Given the description of an element on the screen output the (x, y) to click on. 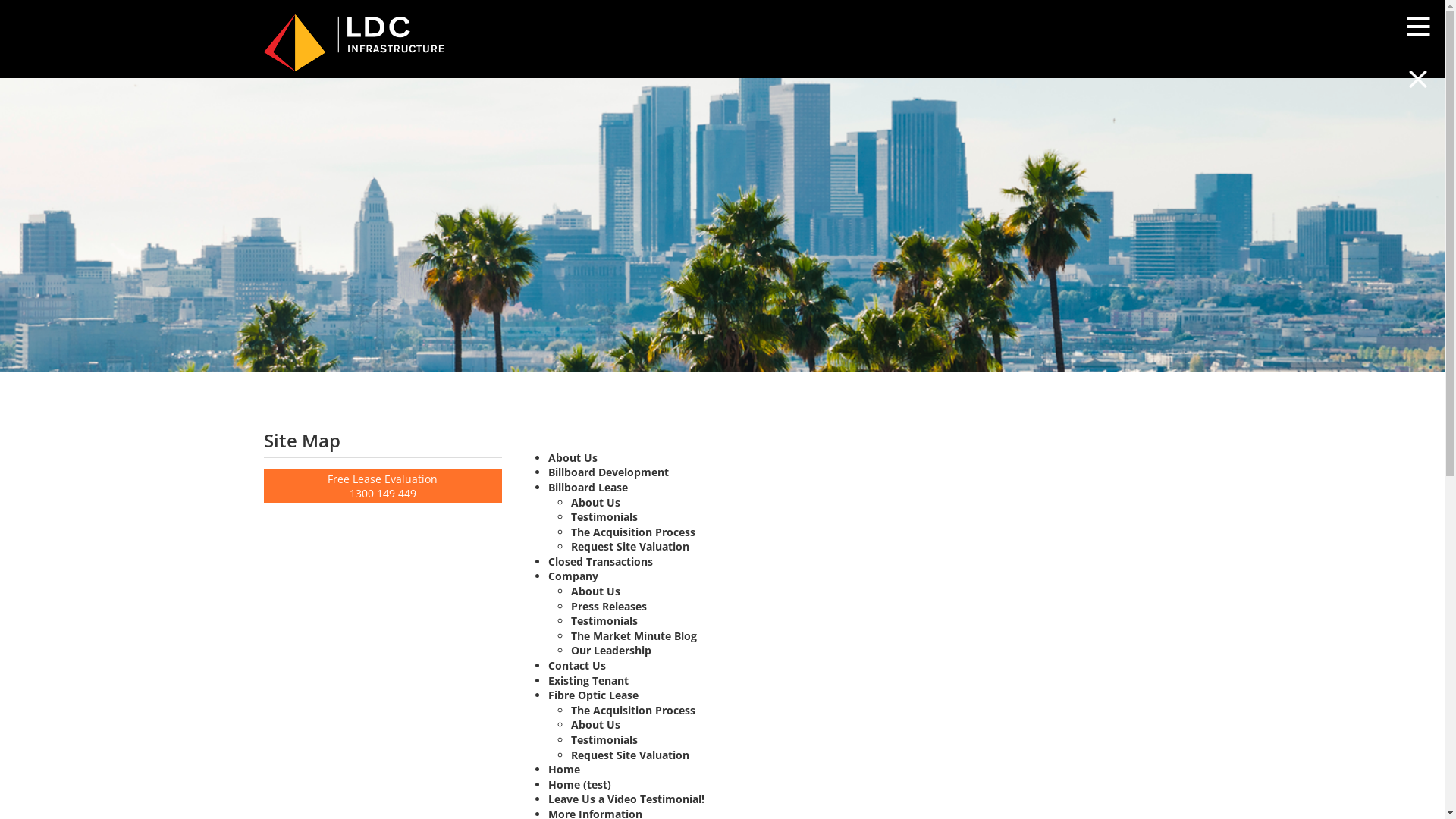
Contact Us Element type: text (576, 665)
Press Releases Element type: text (608, 606)
About Us Element type: text (595, 724)
Billboard Lease Element type: text (587, 487)
The Acquisition Process Element type: text (633, 709)
Site Map Element type: text (382, 442)
About Us Element type: text (572, 457)
Testimonials Element type: text (604, 516)
Billboard Development Element type: text (608, 471)
Request Site Valuation Element type: text (630, 754)
Testimonials Element type: text (604, 739)
Home Element type: text (564, 769)
Leave Us a Video Testimonial! Element type: text (626, 798)
Home (test) Element type: text (579, 784)
About Us Element type: text (595, 502)
The Market Minute Blog Element type: text (633, 635)
Closed Transactions Element type: text (600, 561)
The Acquisition Process Element type: text (633, 531)
Existing Tenant Element type: text (588, 680)
Our Leadership Element type: text (611, 650)
Request Site Valuation Element type: text (630, 546)
Company Element type: text (573, 575)
Free Lease Evaluation
1300 149 449 Element type: text (382, 485)
Fibre Optic Lease Element type: text (593, 694)
About Us Element type: text (595, 590)
Testimonials Element type: text (604, 620)
